Given the description of an element on the screen output the (x, y) to click on. 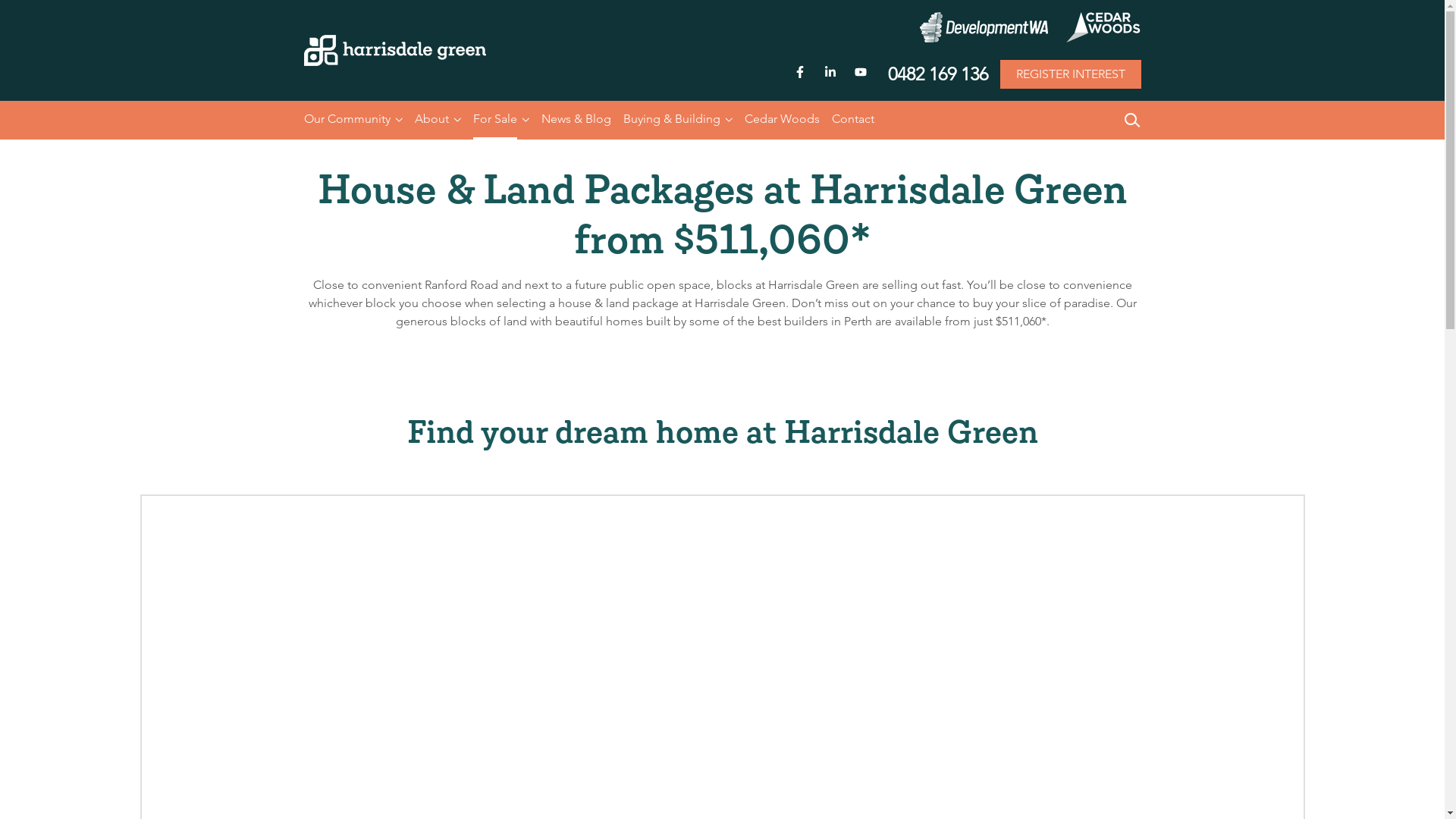
Our Community Element type: text (346, 119)
0482 169 136 Element type: text (937, 73)
Buying & Building Element type: text (671, 119)
News & Blog Element type: text (576, 119)
About Element type: text (431, 119)
Cedar Woods Element type: text (781, 119)
For Sale Element type: text (495, 119)
Contact Element type: text (852, 119)
REGISTER INTEREST Element type: text (1069, 73)
